Given the description of an element on the screen output the (x, y) to click on. 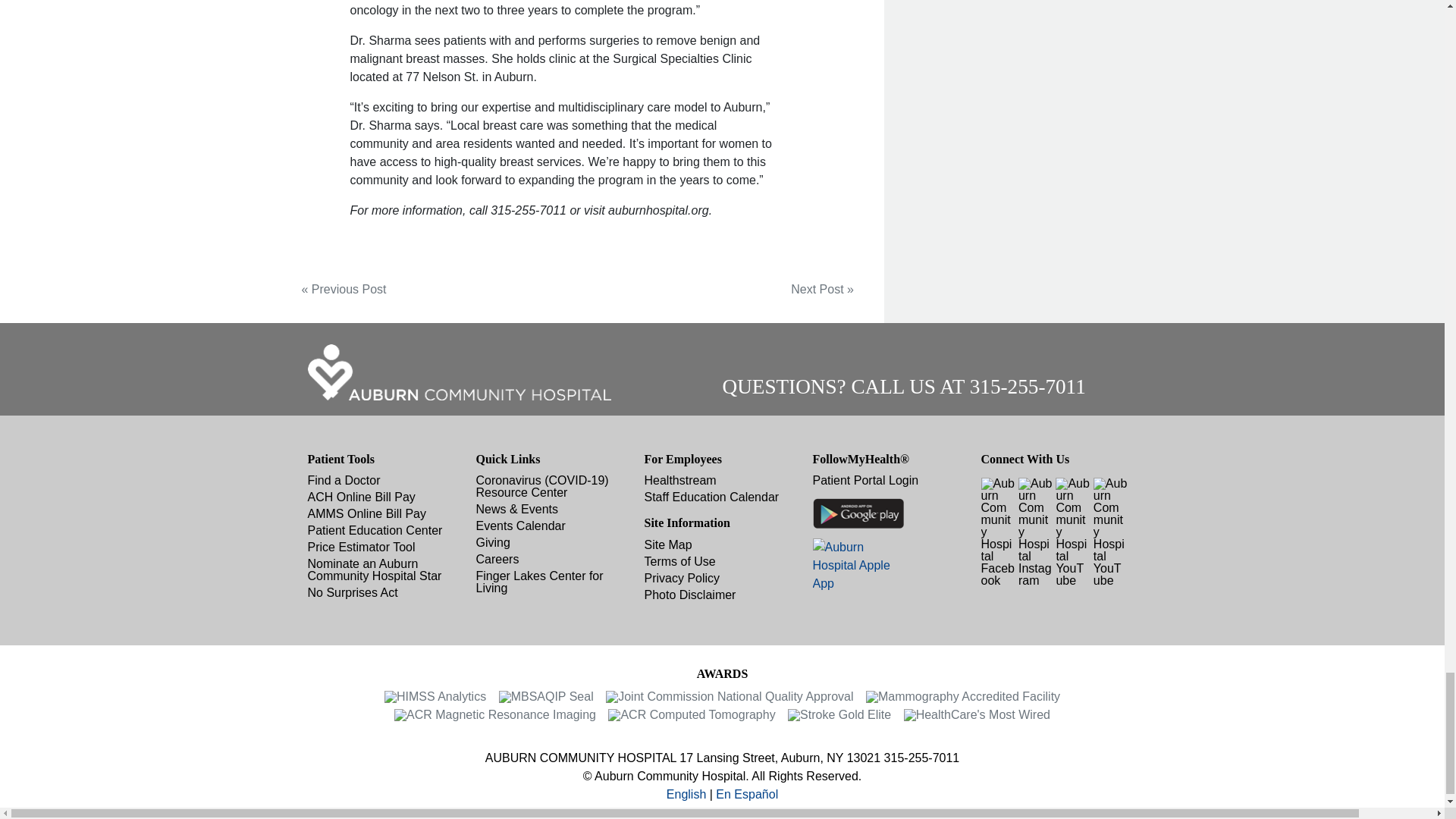
English (686, 793)
Page 3 (562, 210)
Page 1 (562, 110)
